Given the description of an element on the screen output the (x, y) to click on. 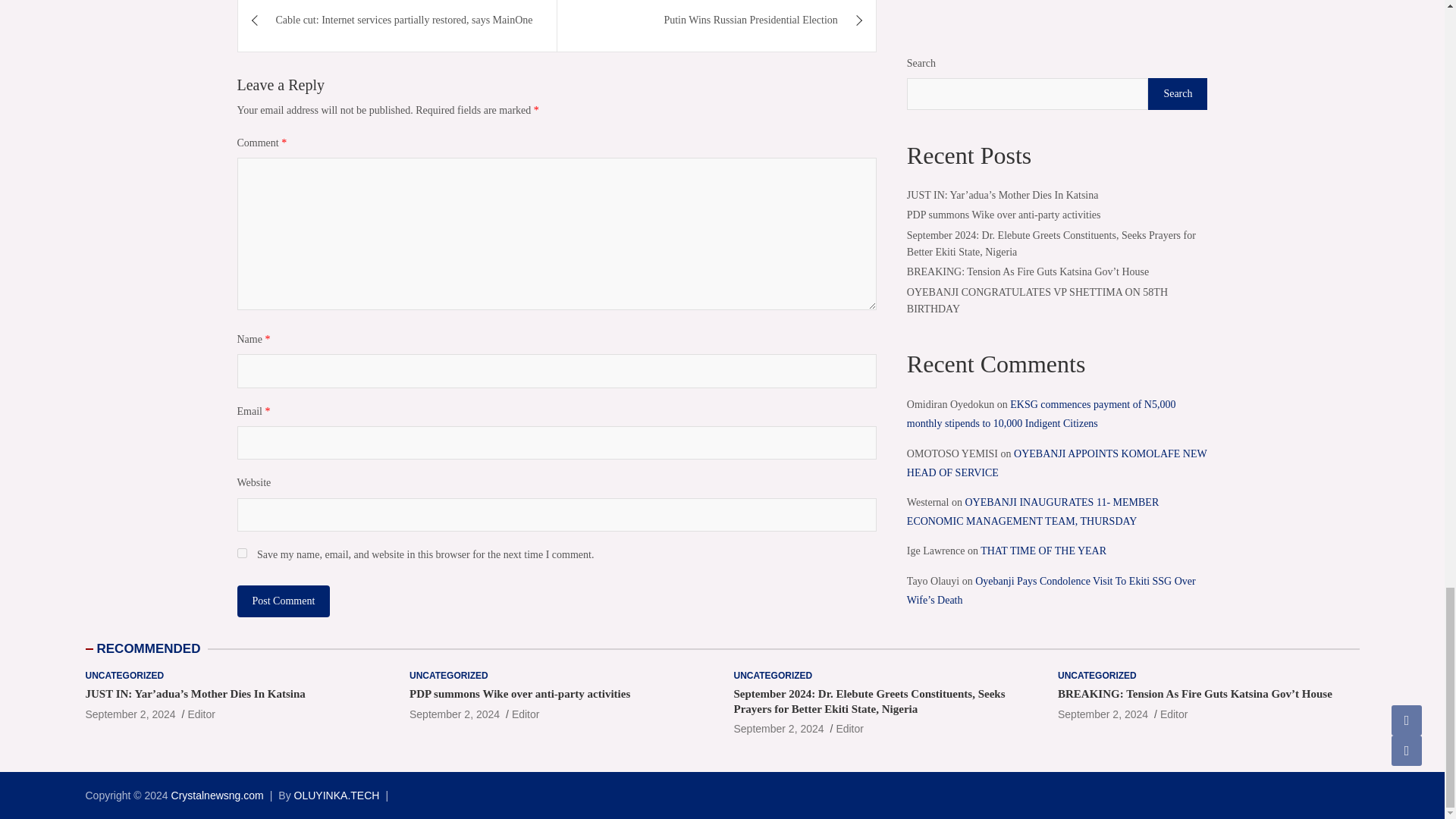
Post Comment (282, 601)
Crystalnewsng.com (217, 795)
yes (240, 552)
RECOMMENDED (148, 648)
Post Comment (282, 601)
Putin Wins Russian Presidential Election (716, 25)
UNCATEGORIZED (123, 676)
PDP summons Wike over anti-party activities (454, 714)
